Given the description of an element on the screen output the (x, y) to click on. 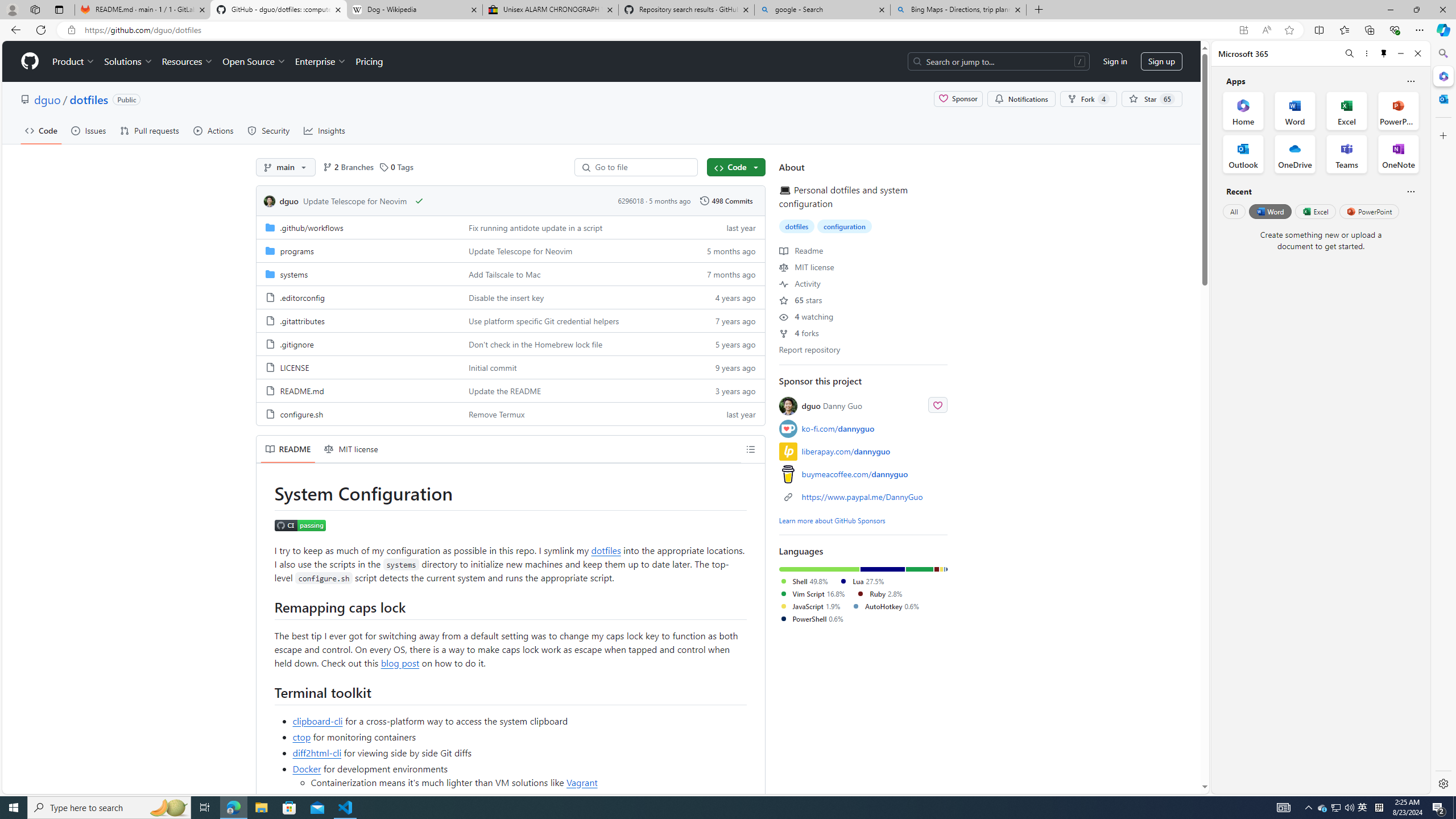
.gitignore, (File) (358, 343)
Word Office App (1295, 110)
ko_fi (787, 428)
README.md, (File) (301, 390)
LICENSE, (File) (293, 367)
Word (1269, 210)
5 months ago (725, 250)
Sign up (1161, 61)
Pricing (368, 60)
Shell49.8% (809, 581)
ko-fi.com/dannyguo (862, 428)
Disable the insert key (573, 296)
